Given the description of an element on the screen output the (x, y) to click on. 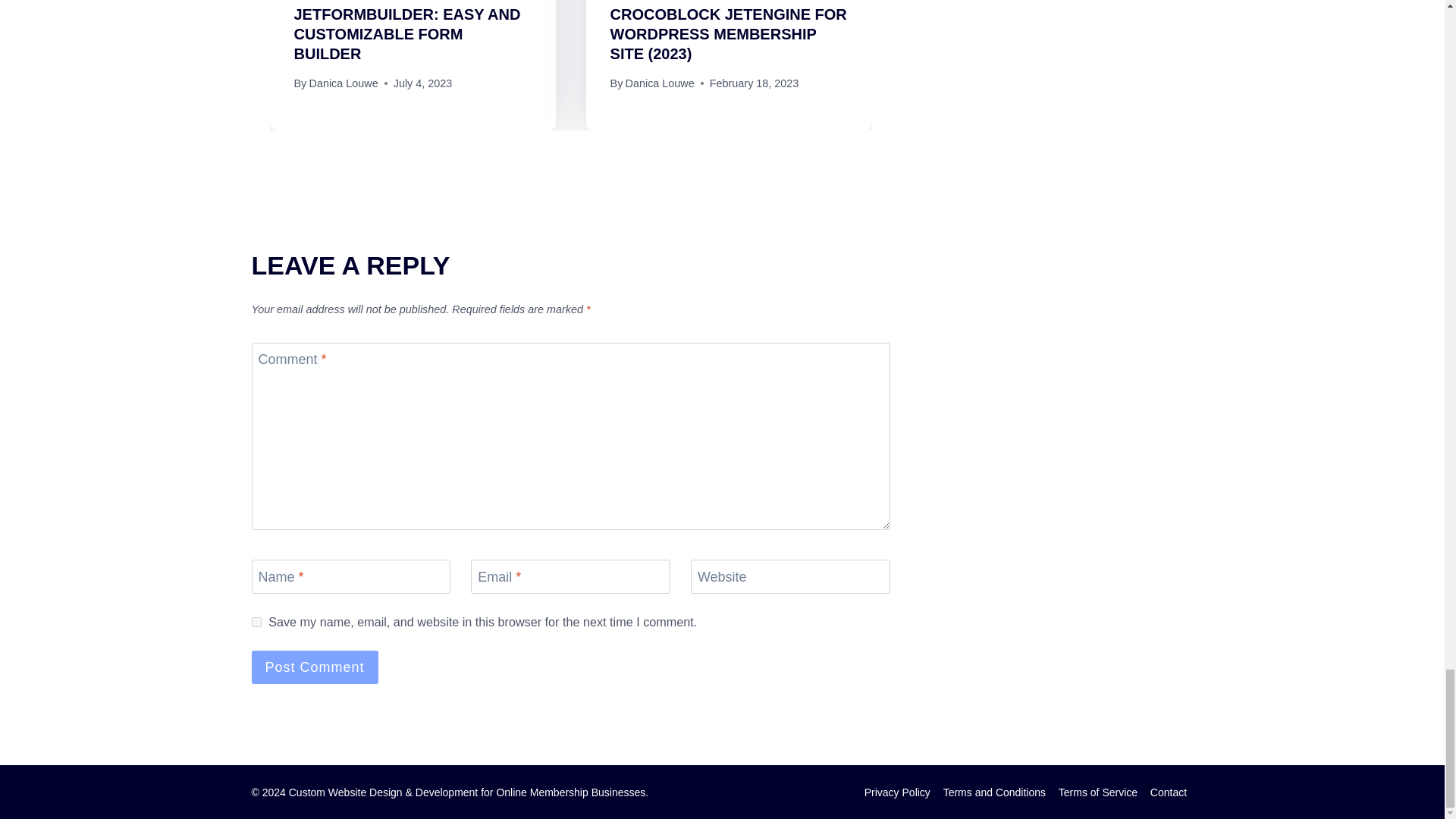
yes (256, 622)
Post Comment (314, 666)
